Given the description of an element on the screen output the (x, y) to click on. 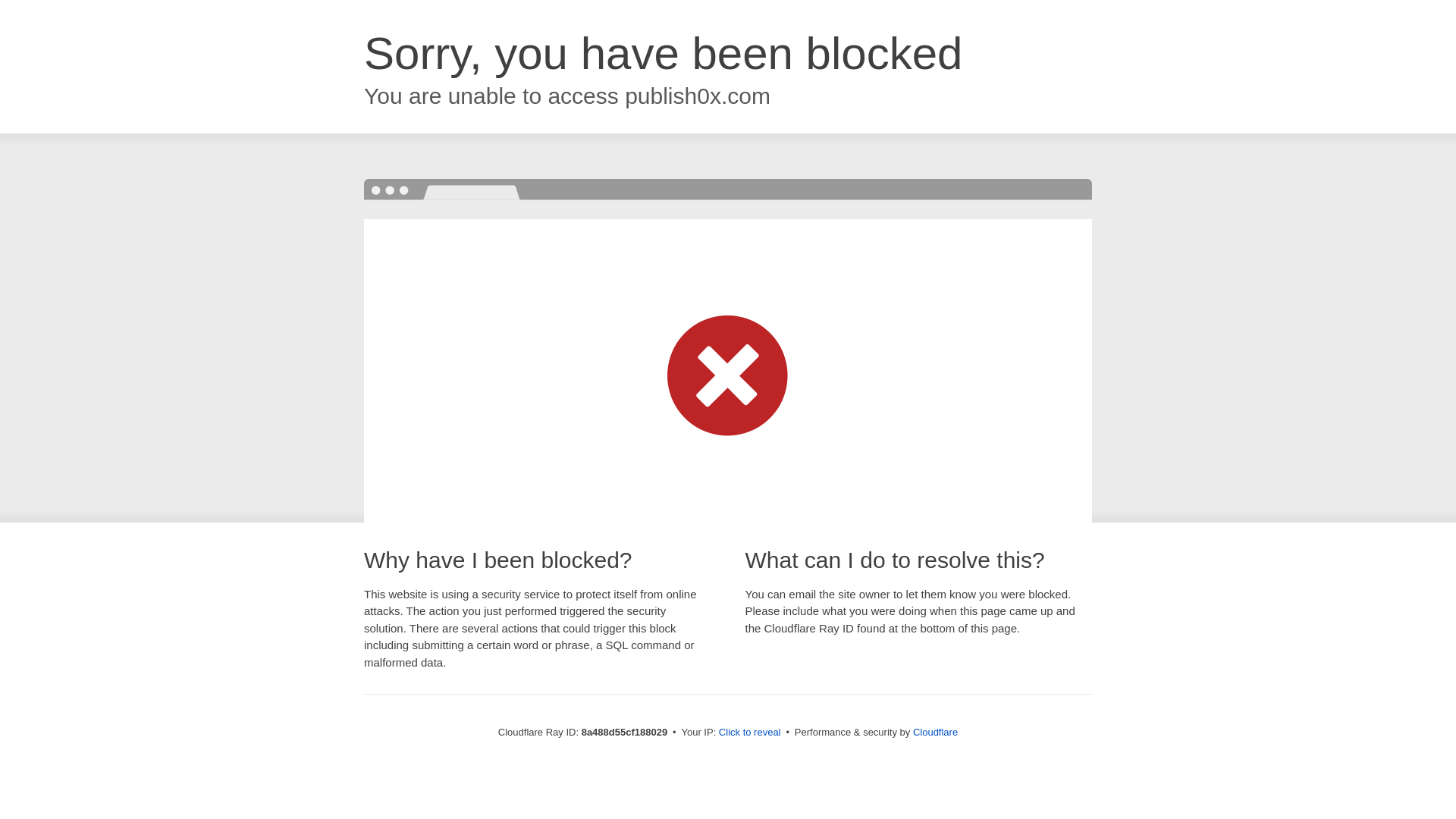
Cloudflare (935, 731)
Click to reveal (749, 732)
